Given the description of an element on the screen output the (x, y) to click on. 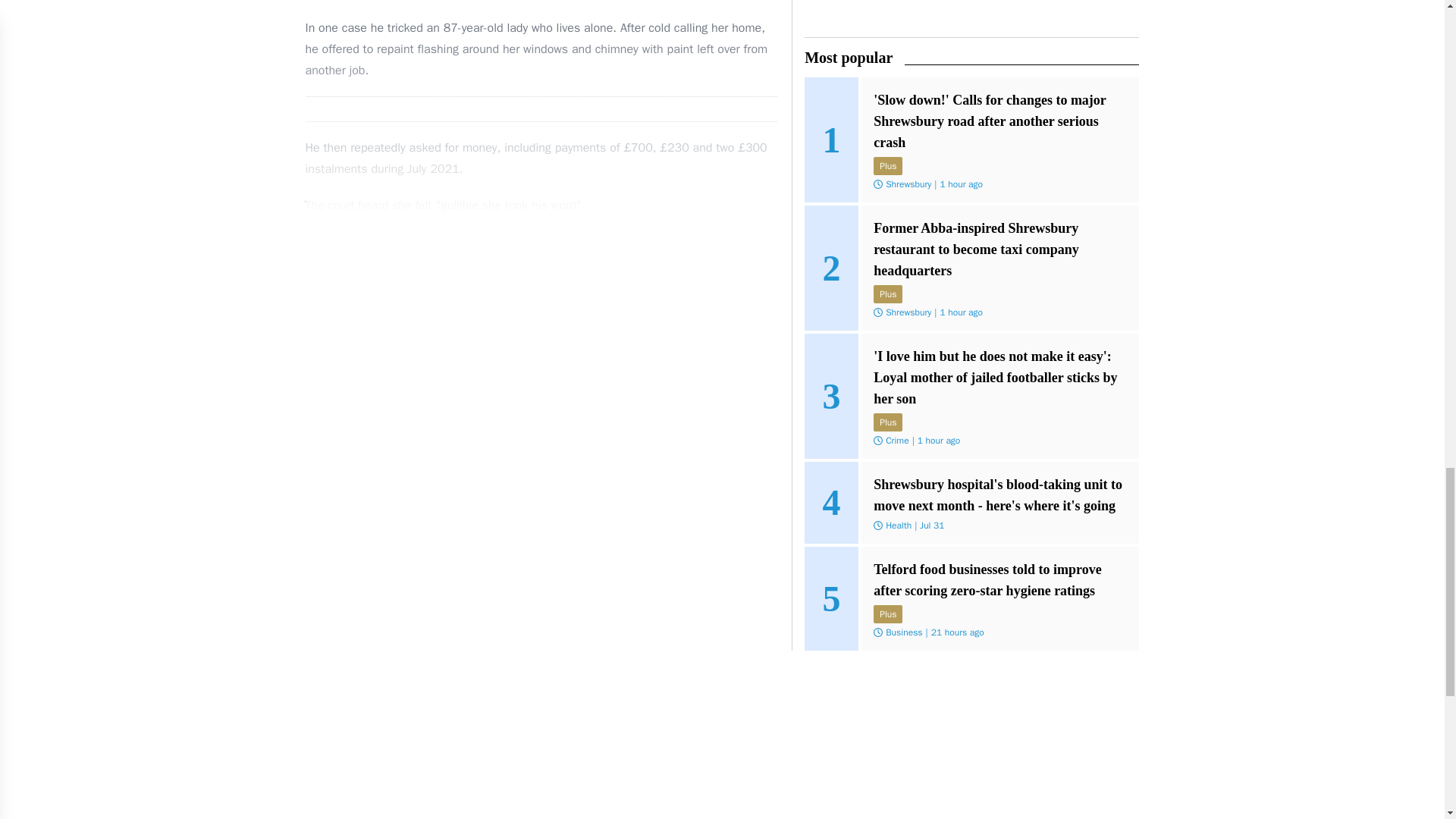
Health (898, 524)
Shrewsbury (908, 183)
Shrewsbury (908, 312)
Business (903, 632)
Crime (896, 439)
